Given the description of an element on the screen output the (x, y) to click on. 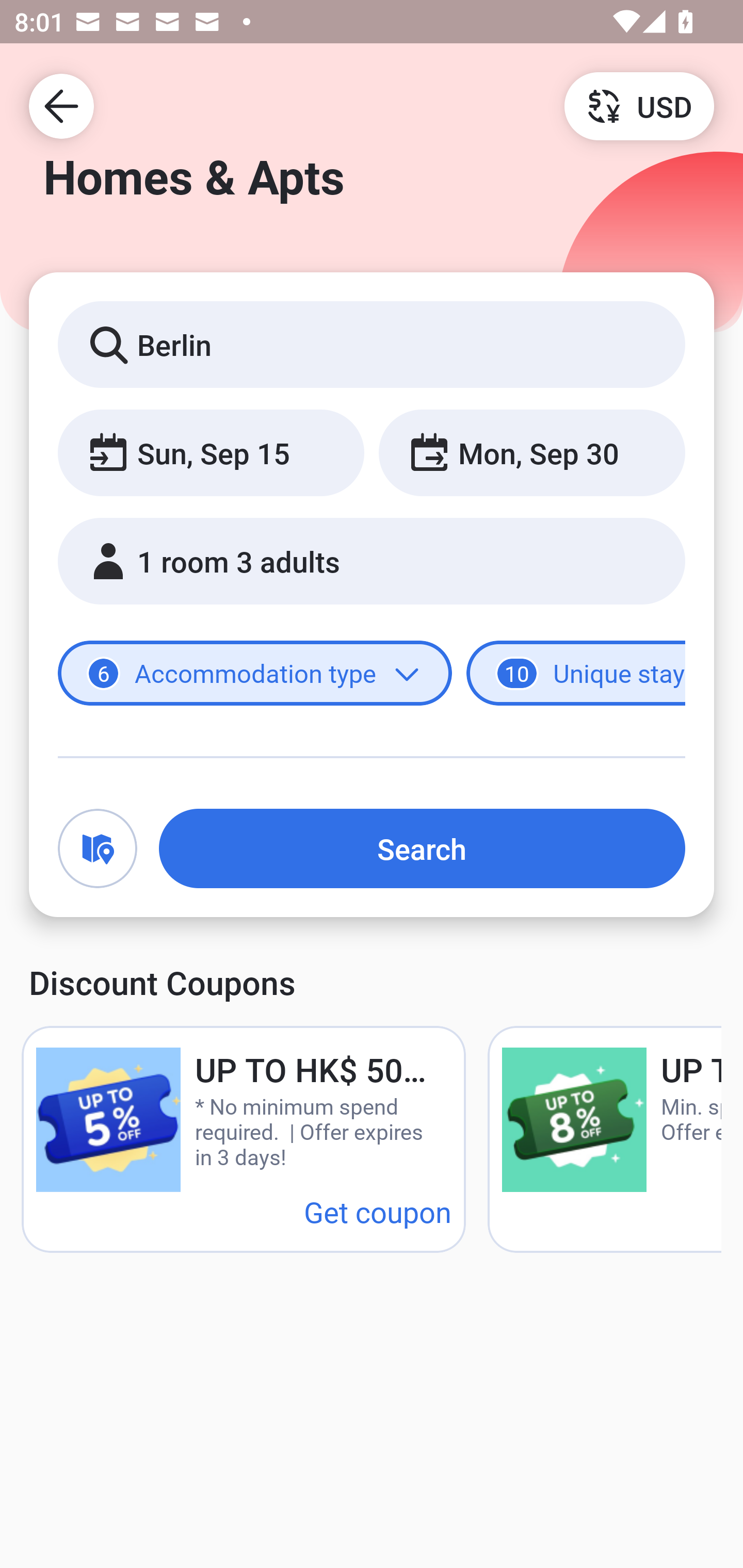
USD (639, 105)
Berlin (371, 344)
Sun, Sep 15 (210, 452)
Mon, Sep 30 (531, 452)
1 room 3 adults (371, 561)
6 Accommodation type (254, 673)
10 Unique stays (575, 673)
Search (422, 848)
Get coupon (377, 1211)
